Given the description of an element on the screen output the (x, y) to click on. 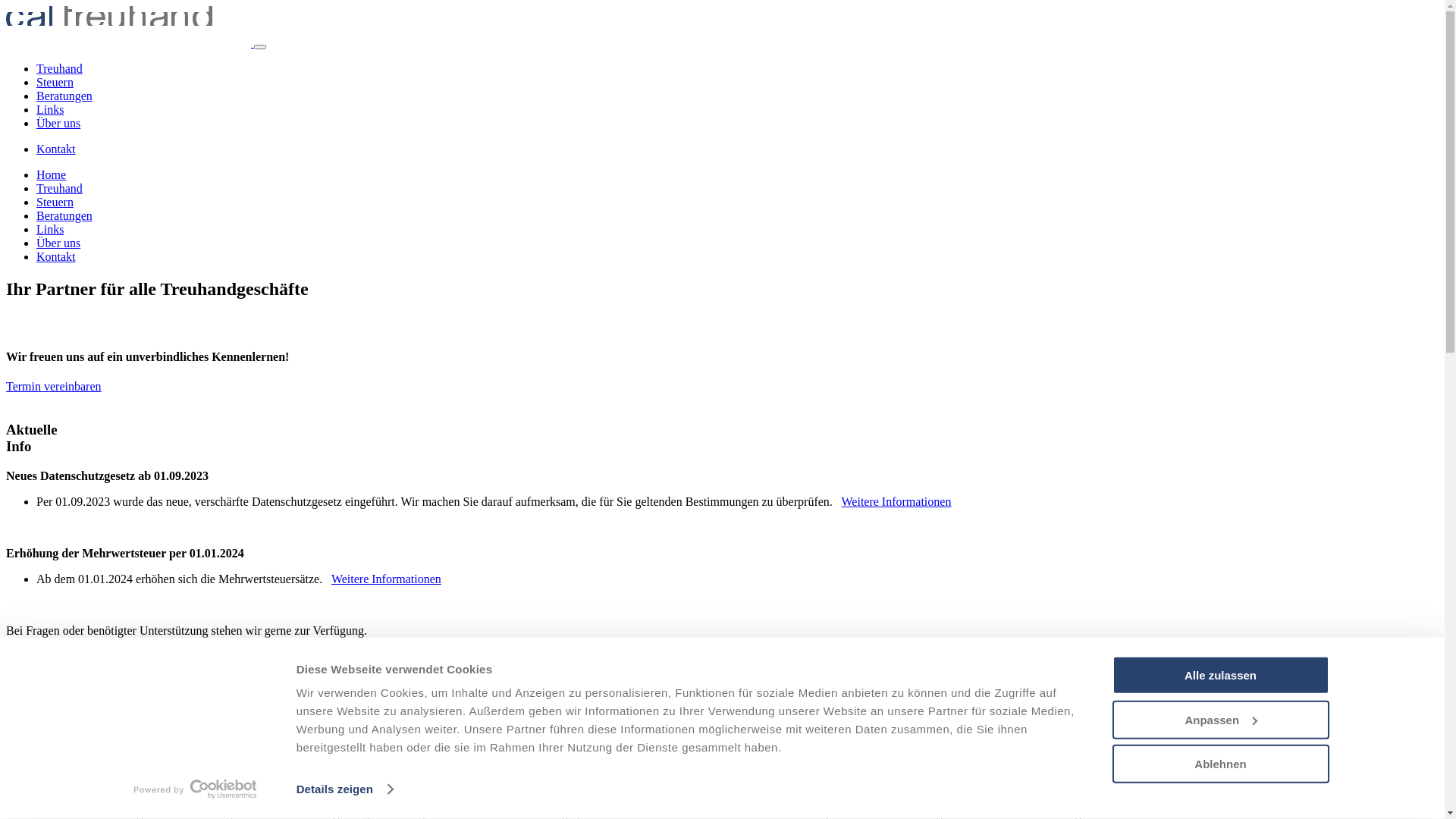
Links Element type: text (49, 109)
Created with Sketch. Element type: text (12, 326)
Weitere Informationen Element type: text (386, 578)
Steuern Element type: text (54, 81)
Termin vereinbaren Element type: text (53, 385)
weiter zu Treuhand Element type: text (53, 753)
Ablehnen Element type: text (1219, 763)
Weitere Informationen Element type: text (896, 501)
Home Element type: text (50, 174)
Alle zulassen Element type: text (1219, 674)
Details zeigen Element type: text (344, 789)
Treuhand Element type: text (59, 68)
Kontakt Element type: text (55, 148)
Links Element type: text (49, 228)
Anpassen Element type: text (1219, 718)
Beratungen Element type: text (64, 215)
Treuhand Element type: text (59, 188)
Created with Sketch. Element type: text (130, 42)
Kontakt Element type: text (55, 256)
Beratungen Element type: text (64, 95)
Steuern Element type: text (54, 201)
